Given the description of an element on the screen output the (x, y) to click on. 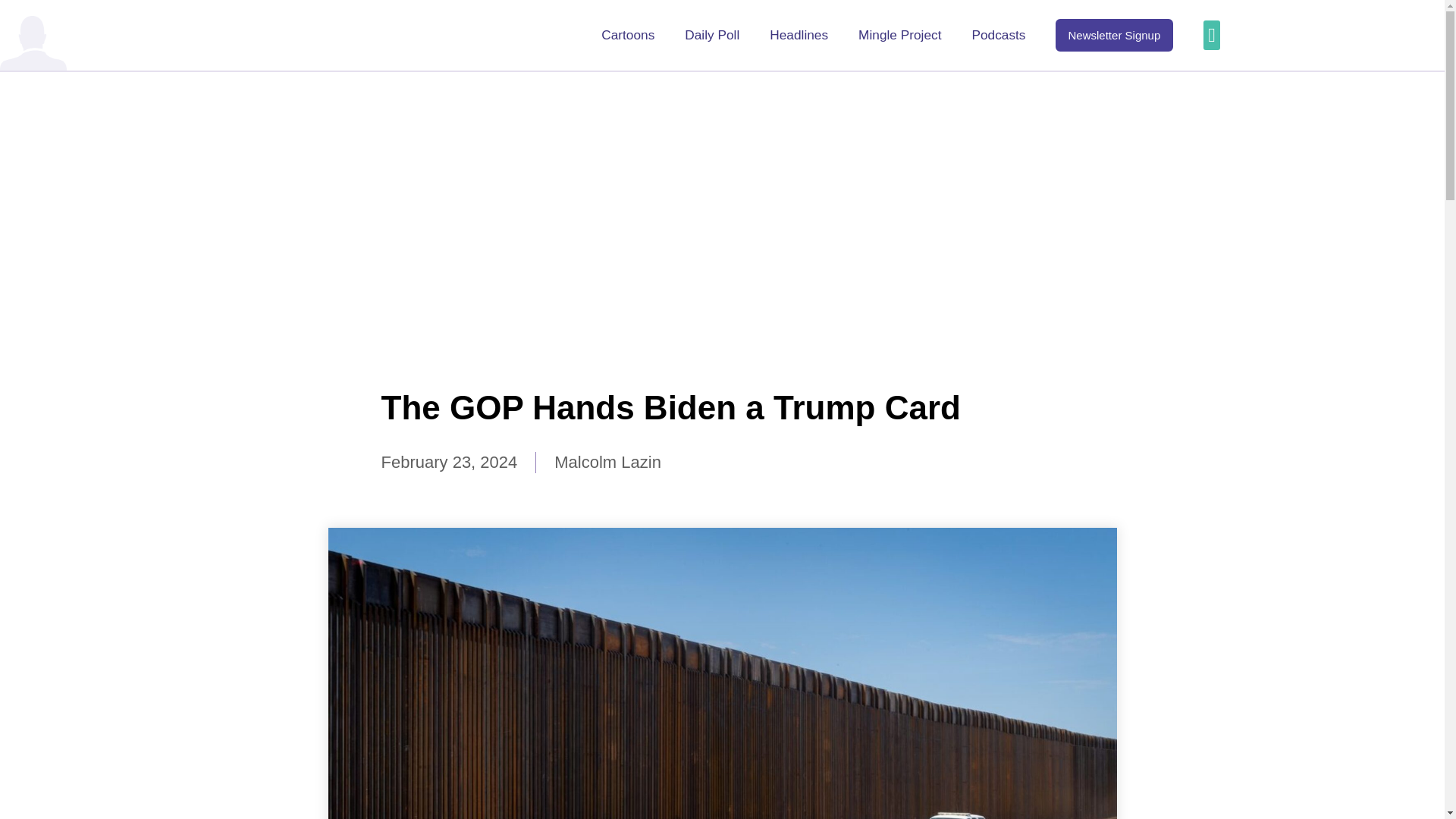
Headlines (799, 35)
Podcasts (998, 35)
Daily Poll (711, 35)
Mingle Project (899, 35)
Cartoons (627, 35)
